Given the description of an element on the screen output the (x, y) to click on. 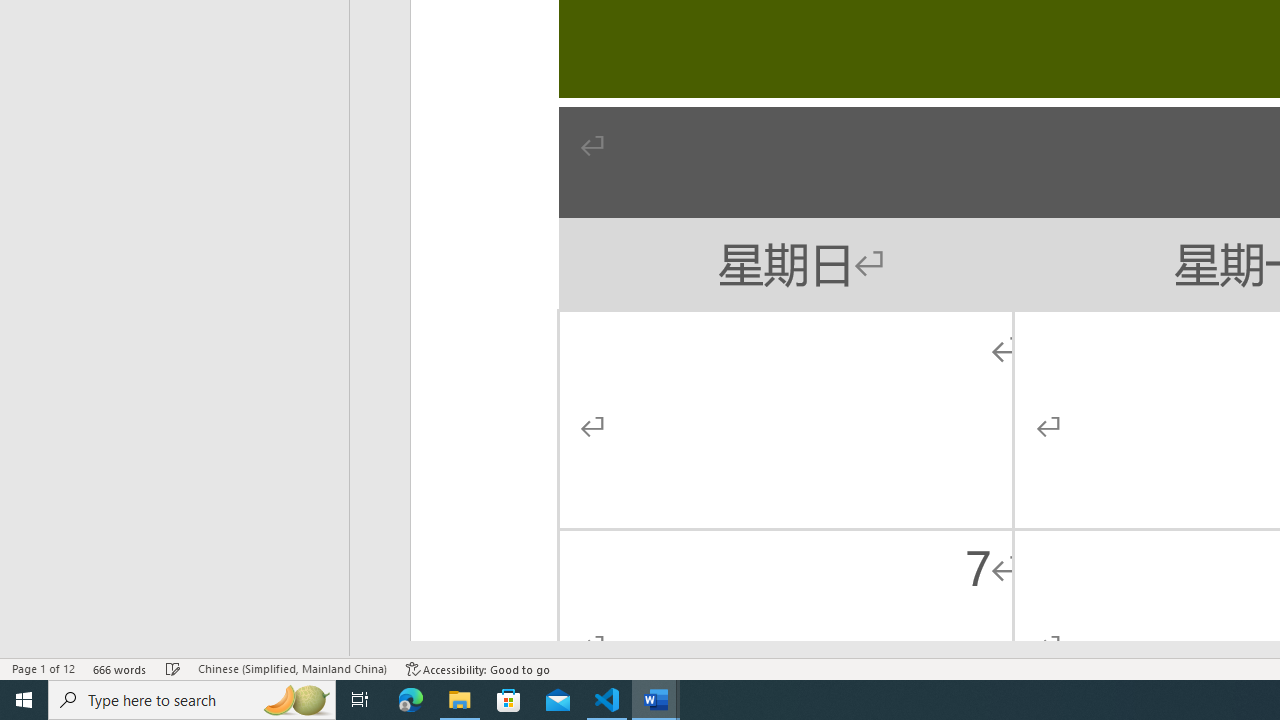
Page Number Page 1 of 12 (43, 668)
Spelling and Grammar Check Checking (173, 668)
Word Count 666 words (119, 668)
Accessibility Checker Accessibility: Good to go (478, 668)
Language Chinese (Simplified, Mainland China) (292, 668)
